Given the description of an element on the screen output the (x, y) to click on. 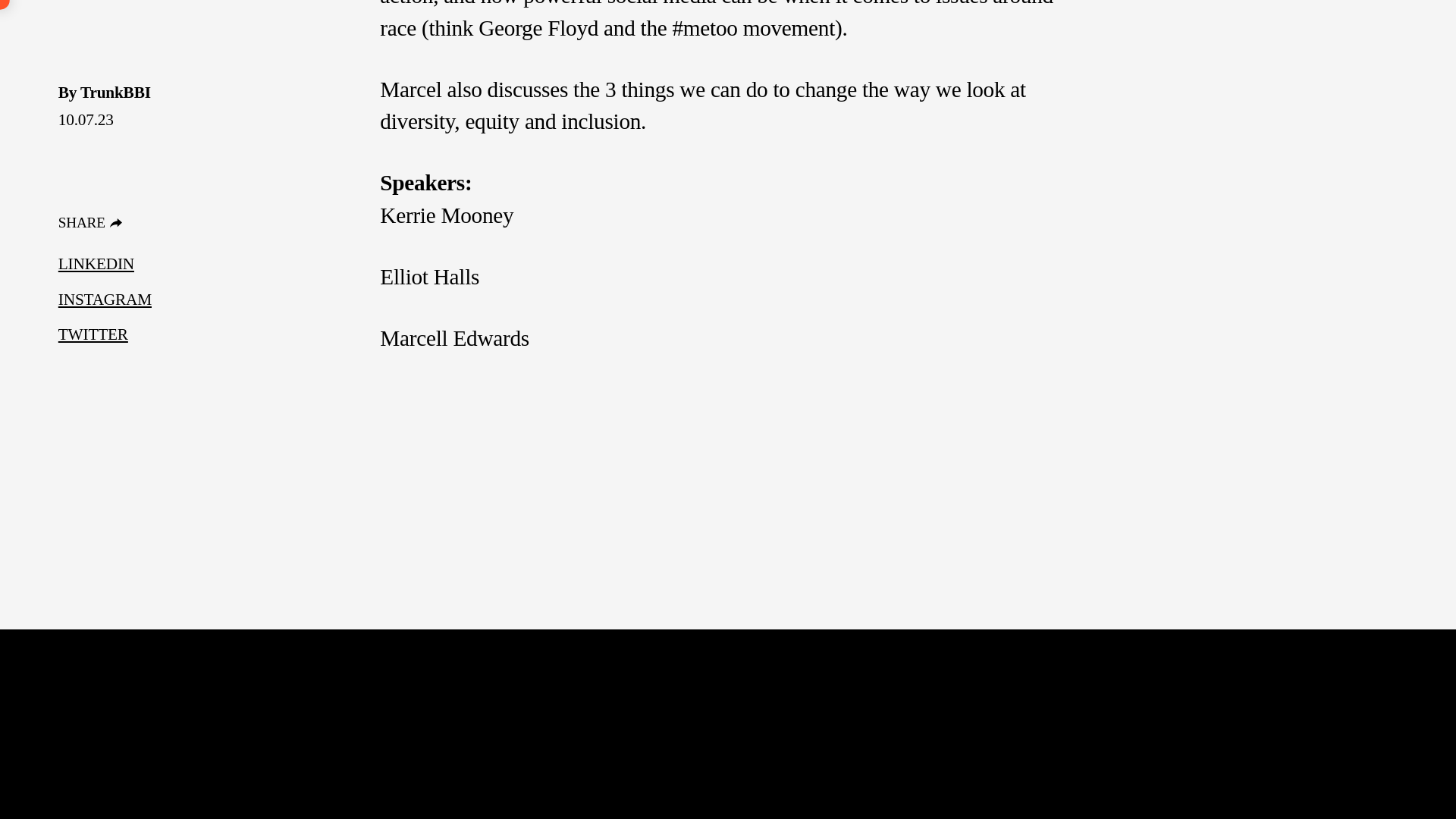
GET IN TOUCH (489, 433)
